Given the description of an element on the screen output the (x, y) to click on. 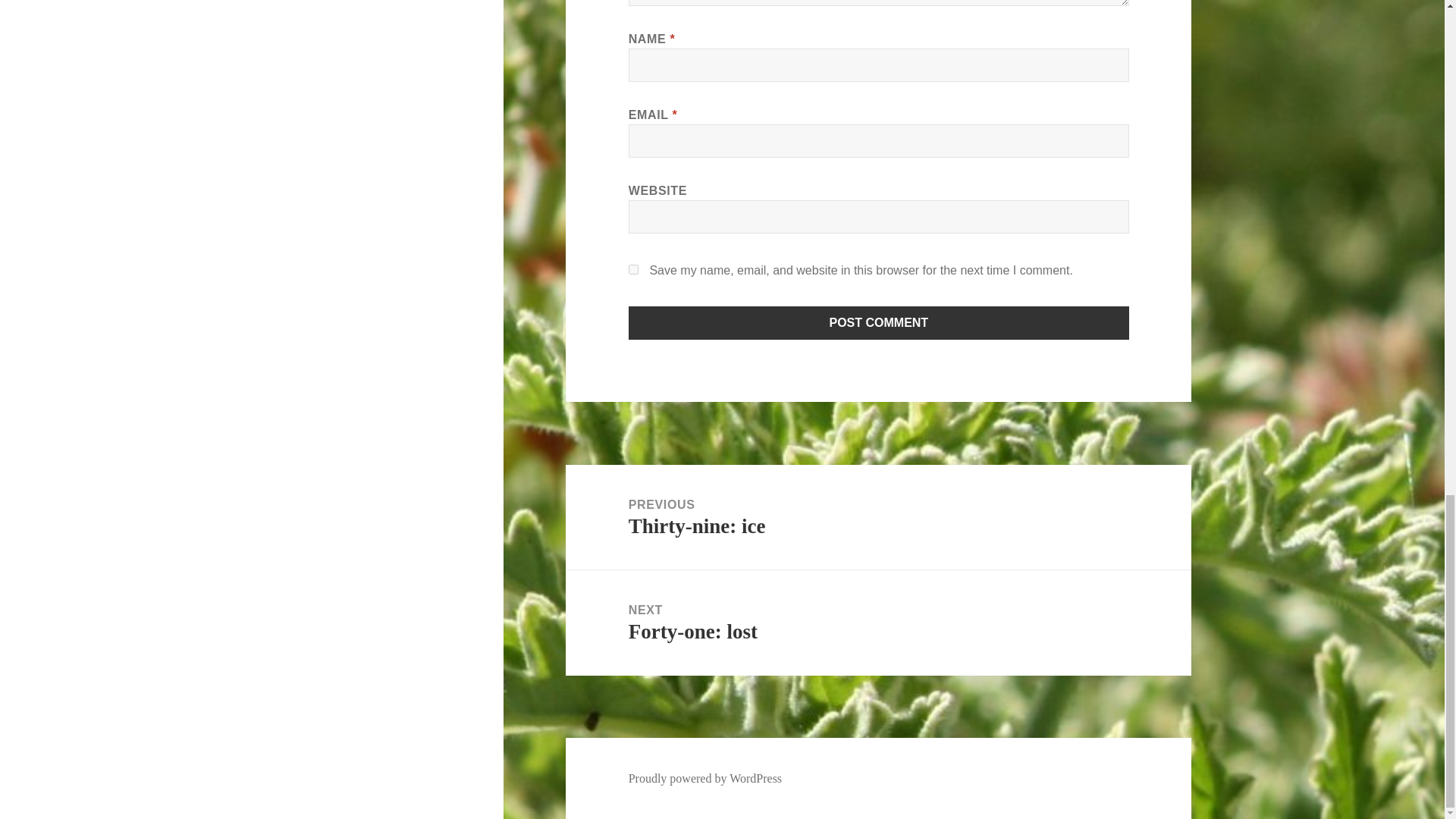
yes (633, 269)
Post Comment (878, 322)
Tweets by meganknight (311, 47)
